Given the description of an element on the screen output the (x, y) to click on. 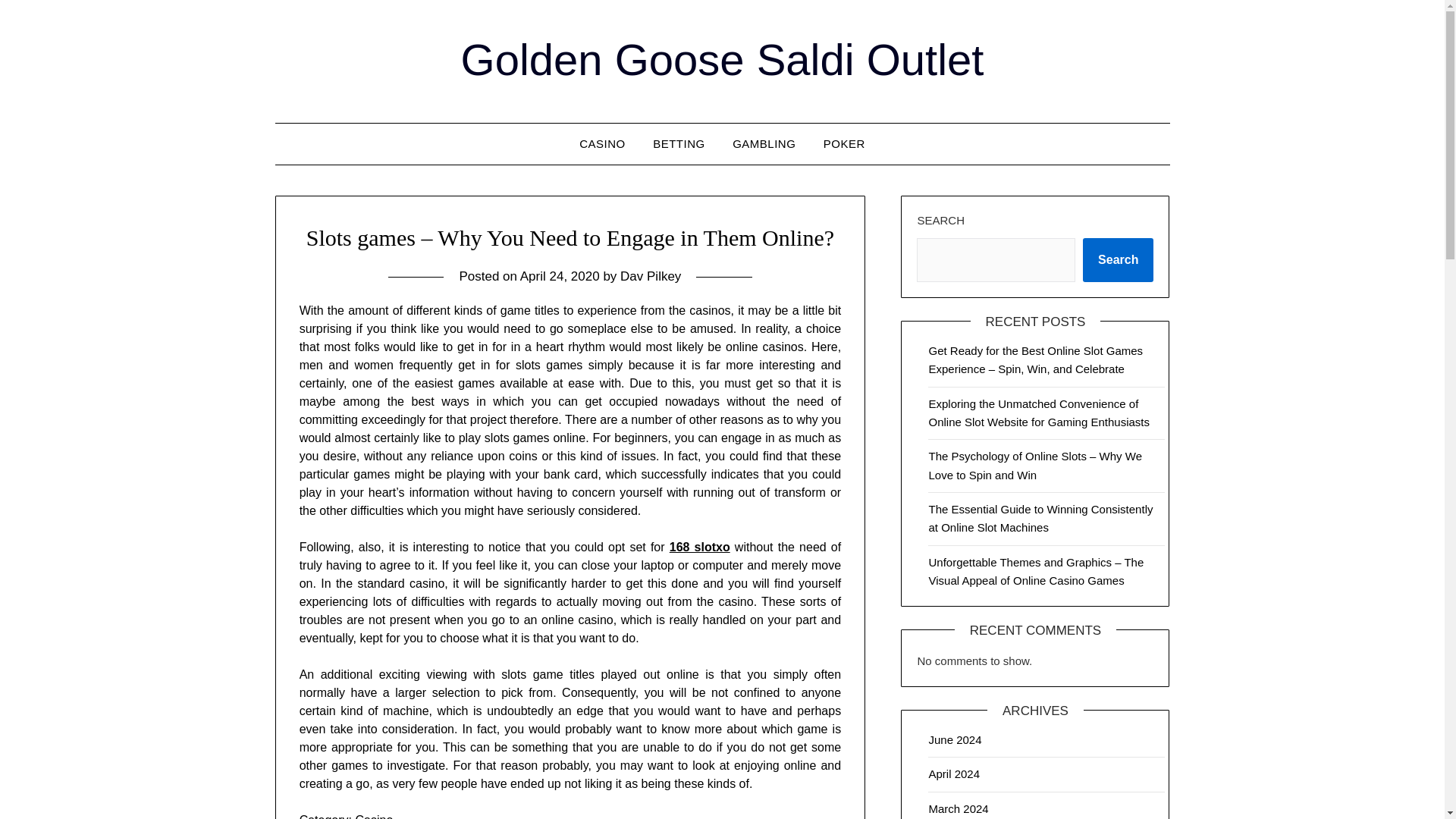
Casino (374, 816)
April 24, 2020 (559, 276)
GAMBLING (764, 143)
POKER (843, 143)
Search (1118, 259)
CASINO (602, 143)
Golden Goose Saldi Outlet (722, 59)
April 2024 (953, 773)
168 slotxo (699, 546)
March 2024 (958, 808)
Dav Pilkey (650, 276)
June 2024 (954, 739)
BETTING (678, 143)
